Given the description of an element on the screen output the (x, y) to click on. 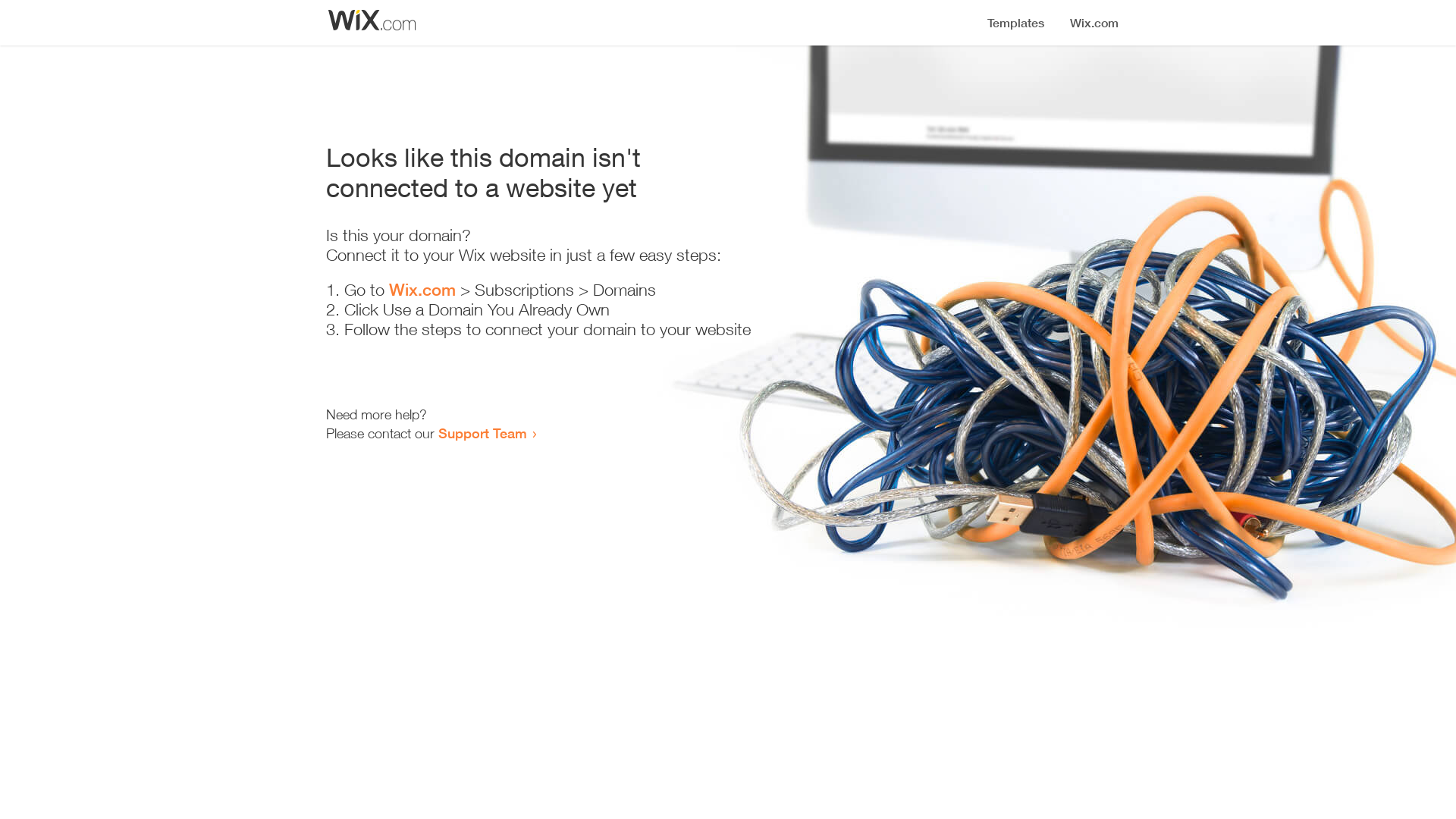
Support Team Element type: text (482, 432)
Wix.com Element type: text (422, 289)
